Given the description of an element on the screen output the (x, y) to click on. 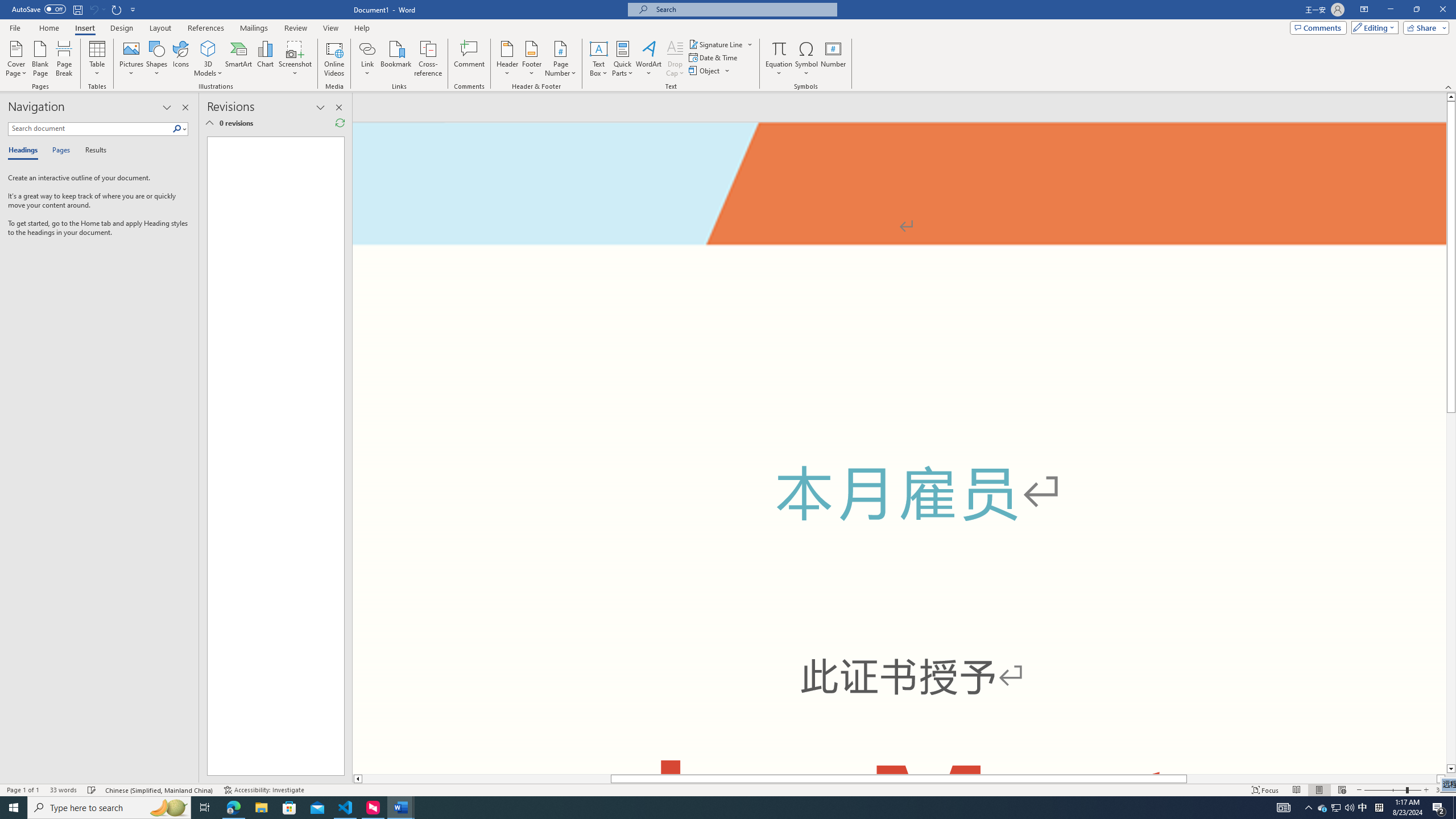
Refresh Reviewing Pane (339, 122)
Search document (89, 128)
Page right (1311, 778)
Line down (1450, 768)
Bookmark... (396, 58)
Pictures (131, 58)
Language Chinese (Simplified, Mainland China) (159, 790)
Equation (778, 58)
Footer (531, 58)
Page left (486, 778)
